Given the description of an element on the screen output the (x, y) to click on. 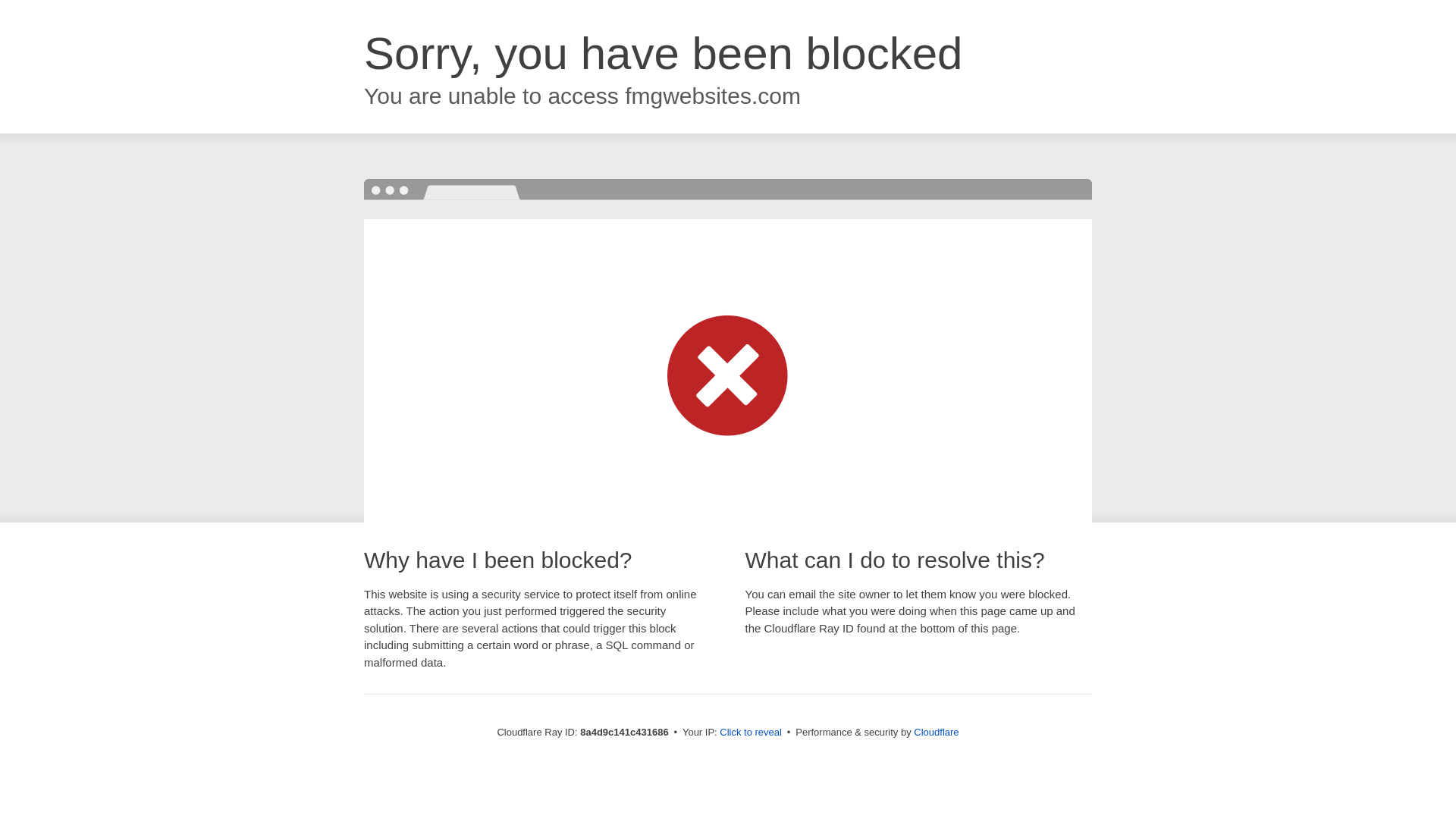
Cloudflare (936, 731)
Click to reveal (750, 732)
